Given the description of an element on the screen output the (x, y) to click on. 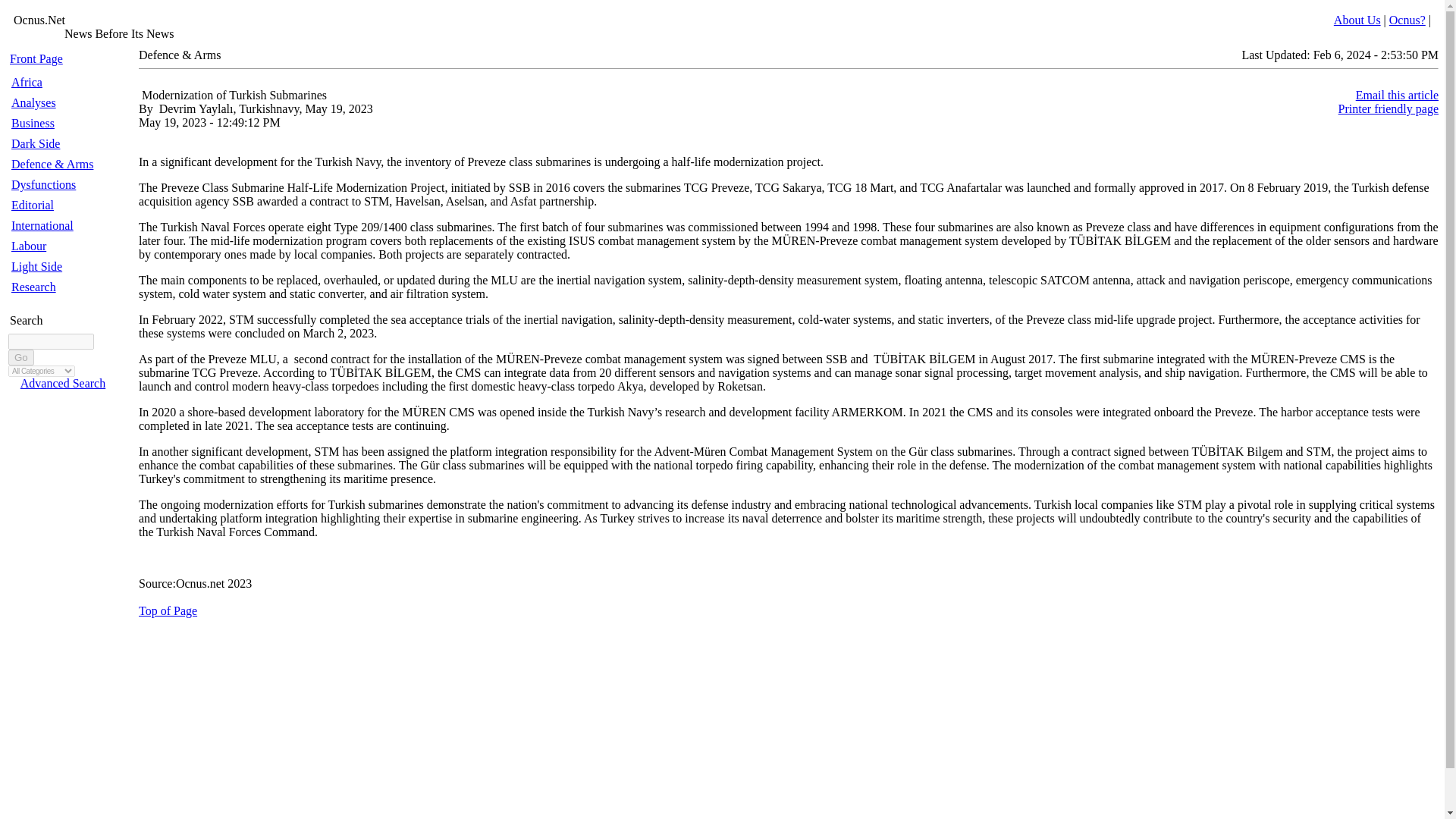
Africa (26, 82)
Ocnus? (1407, 19)
Labour (28, 245)
Email this article (1396, 94)
Top of Page (167, 610)
Go (20, 357)
Light Side (36, 266)
Printer friendly page (1388, 108)
Research (33, 286)
Advanced Search (62, 382)
Dark Side (35, 143)
Front Page (36, 58)
Dysfunctions (43, 184)
Go (20, 357)
Analyses (33, 102)
